Given the description of an element on the screen output the (x, y) to click on. 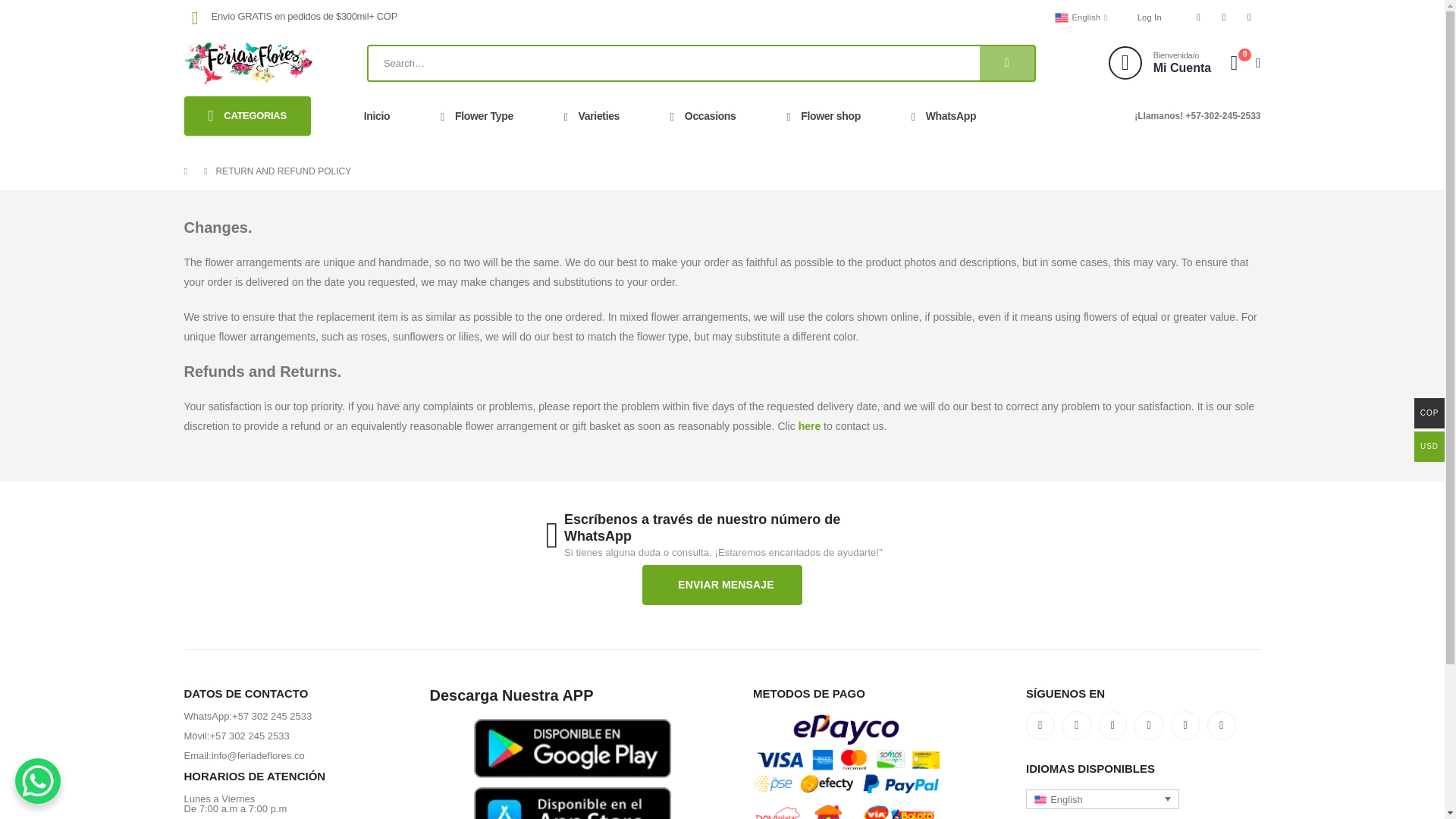
Facebook (1198, 16)
Search (1006, 62)
Instagram (1249, 16)
Log In (1149, 16)
English (1082, 17)
Youtube (1223, 16)
